Given the description of an element on the screen output the (x, y) to click on. 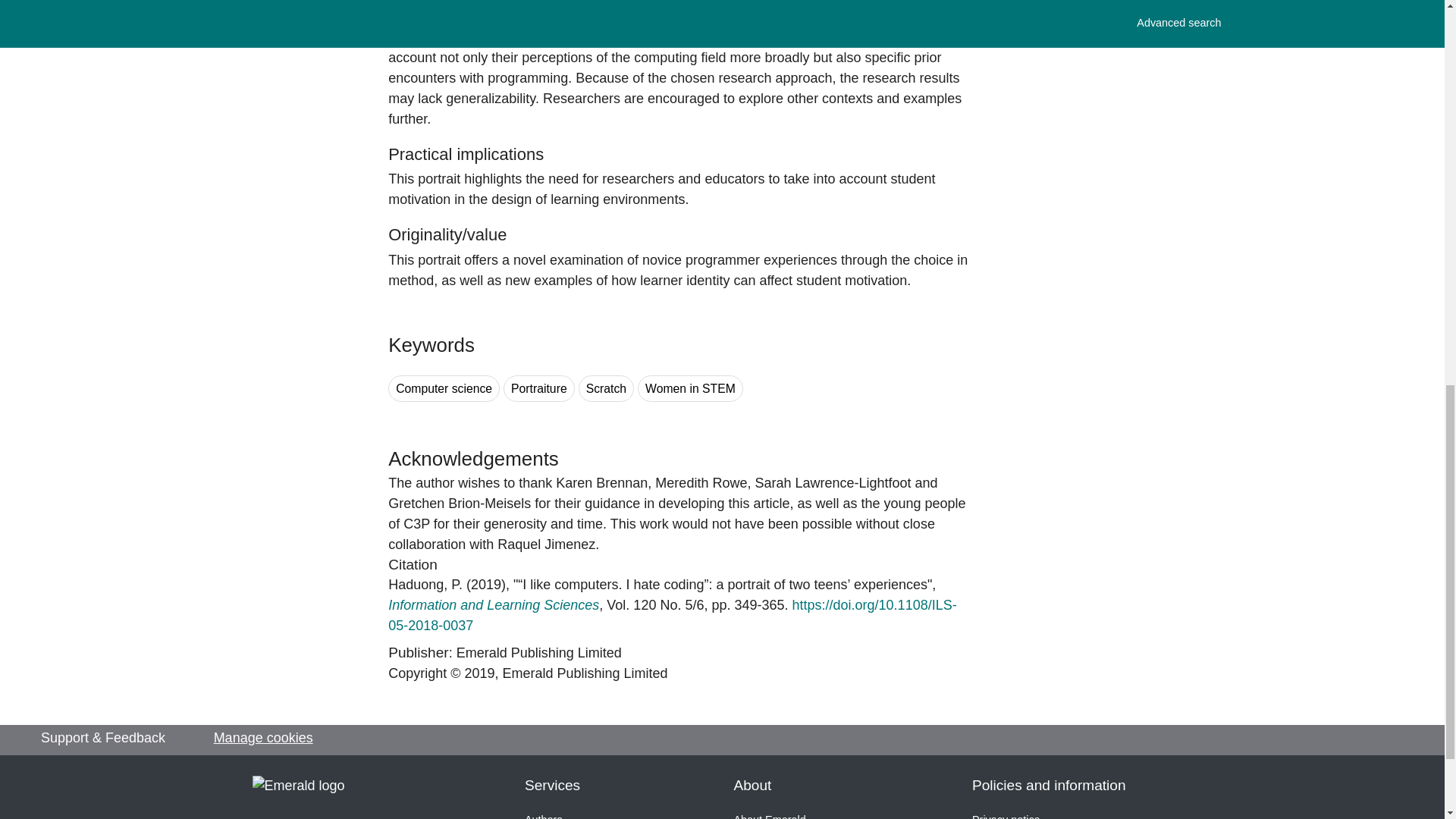
Portraiture (539, 388)
Manage cookies (263, 738)
Privacy notice (1006, 816)
Authors (543, 816)
About Emerald (769, 816)
Haduong, P. (425, 584)
Search for keyword Portraiture (539, 388)
Search for keyword Computer science (443, 388)
Search for keyword Scratch (605, 388)
Information and Learning Sciences (493, 604)
